Given the description of an element on the screen output the (x, y) to click on. 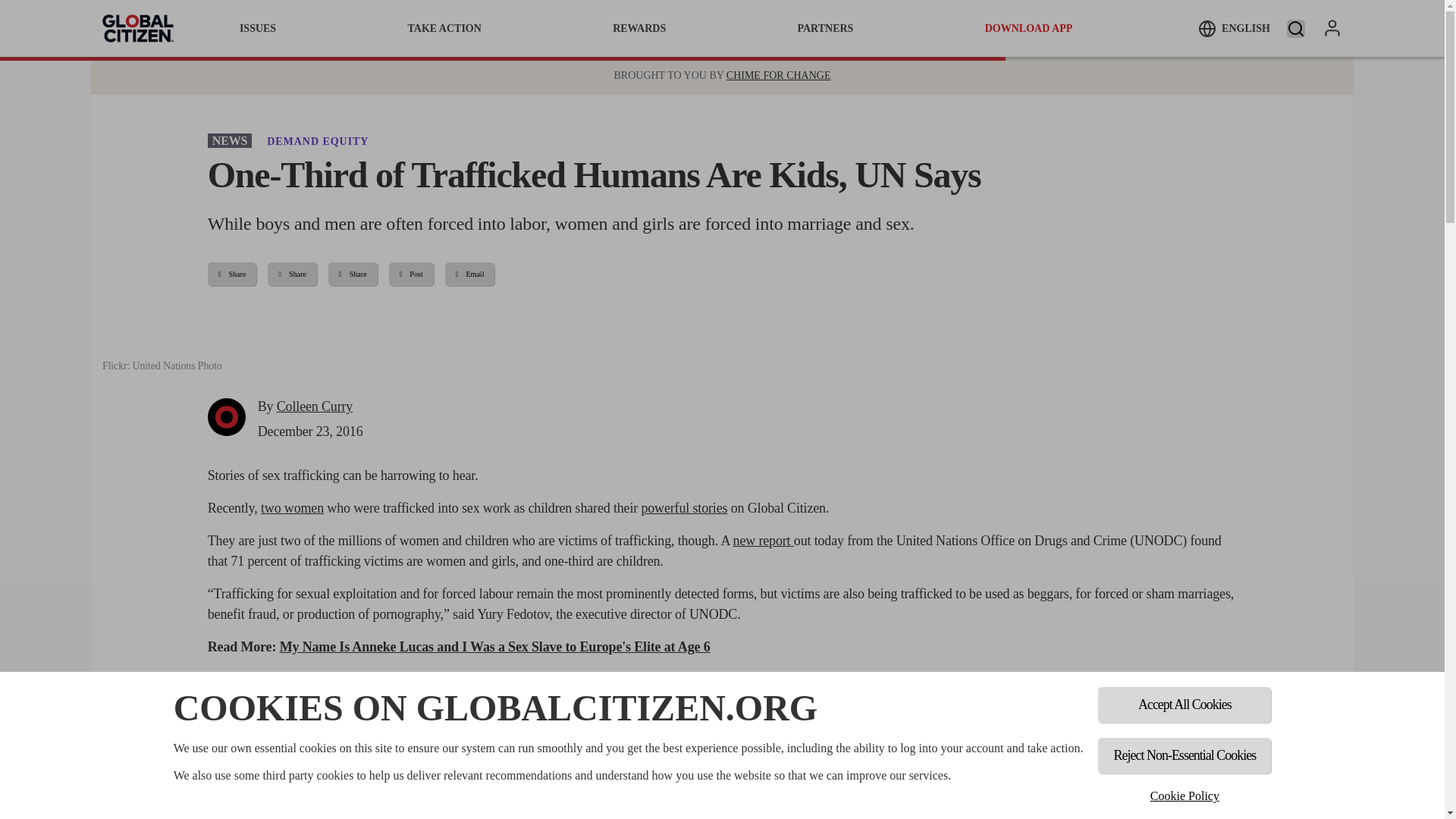
PARTNERS (825, 28)
CHIME FOR CHANGE (778, 75)
Demand Equity (317, 140)
TAKE ACTION (444, 28)
DOWNLOAD APP (1029, 28)
ISSUES (257, 28)
ENGLISH (1233, 28)
DEMAND EQUITY (317, 140)
REWARDS (639, 28)
CHIME FOR CHANGE (778, 75)
